Given the description of an element on the screen output the (x, y) to click on. 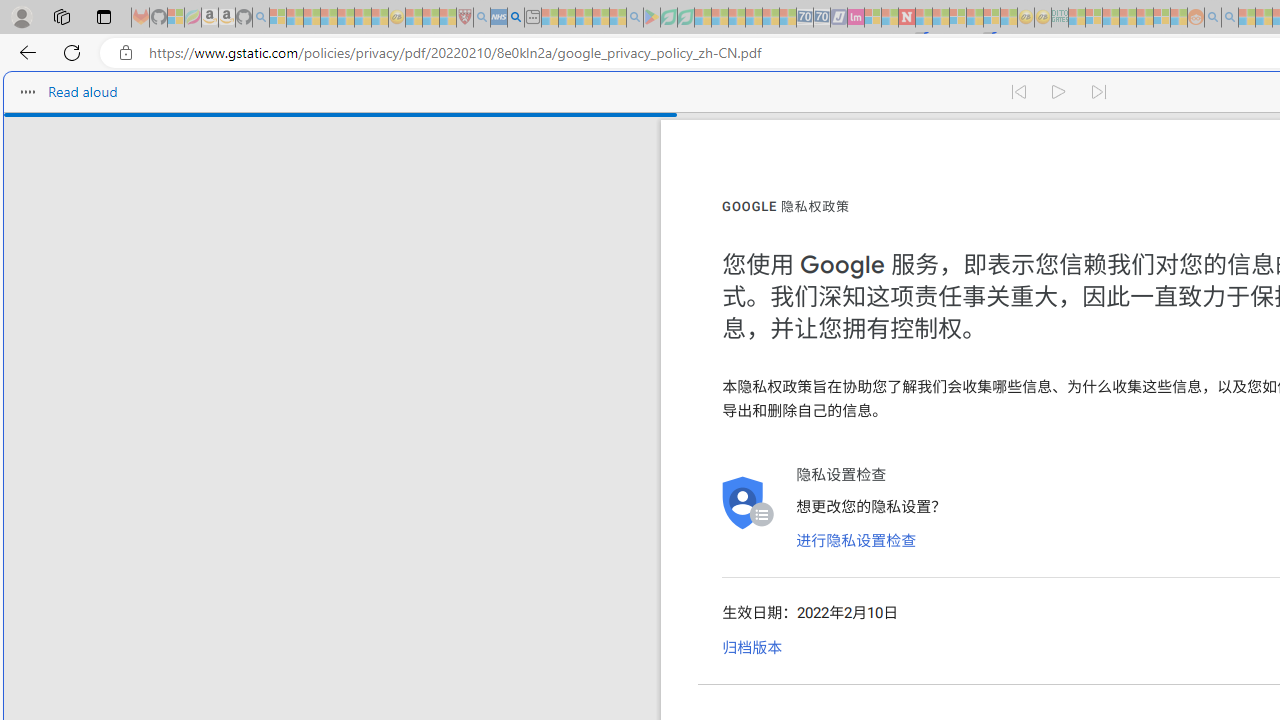
Cheap Car Rentals - Save70.com - Sleeping (804, 17)
google - Search - Sleeping (634, 17)
New Report Confirms 2023 Was Record Hot | Watch - Sleeping (345, 17)
Cheap Hotels - Save70.com - Sleeping (821, 17)
Bluey: Let's Play! - Apps on Google Play - Sleeping (651, 17)
utah sues federal government - Search (515, 17)
Local - MSN - Sleeping (447, 17)
Expert Portfolios - Sleeping (1128, 17)
Continue to read aloud (Ctrl+Shift+U) (1059, 92)
